Given the description of an element on the screen output the (x, y) to click on. 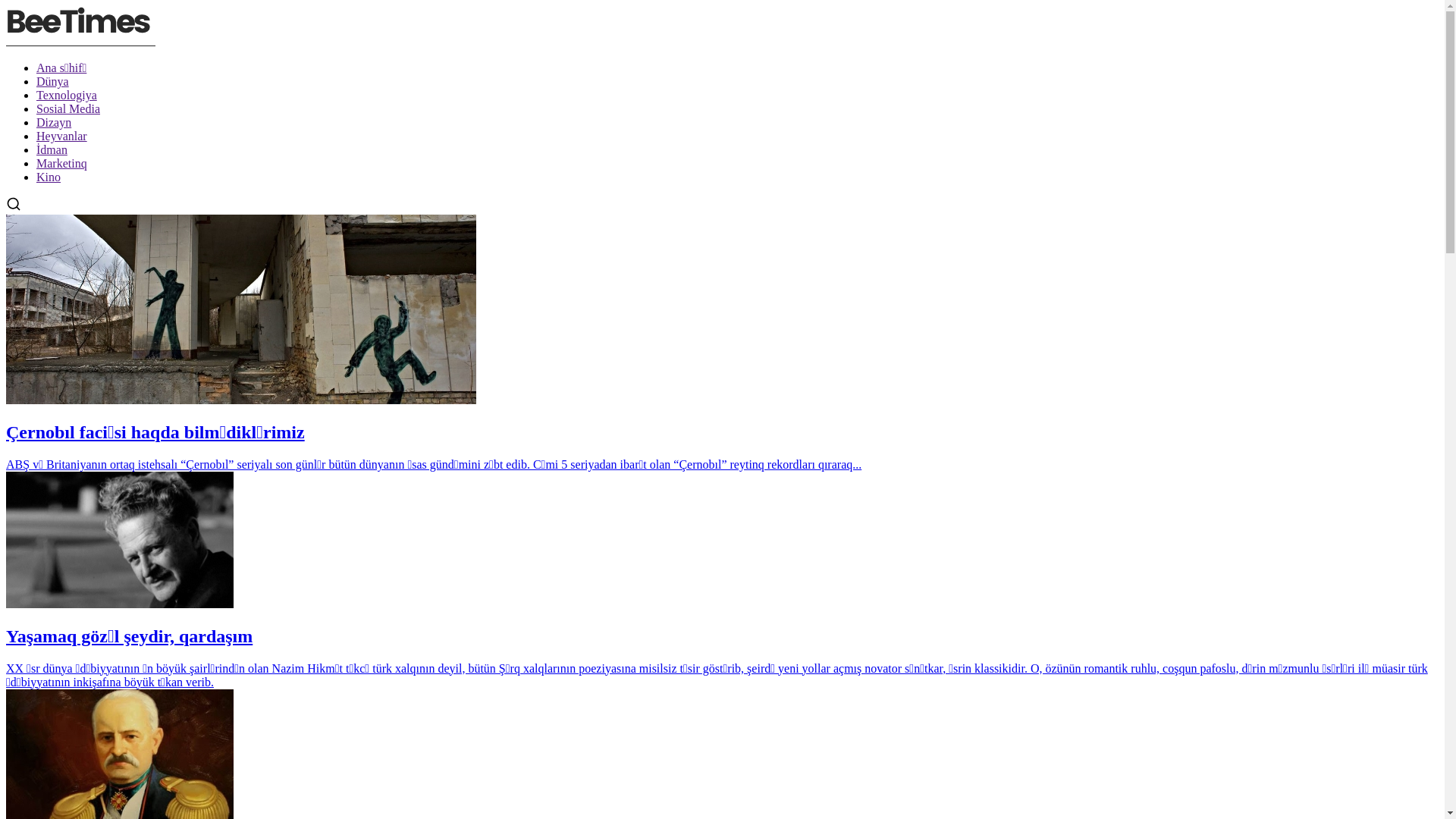
Marketinq Element type: text (61, 162)
Sosial Media Element type: text (68, 108)
Texnologiya Element type: text (66, 94)
Kino Element type: text (48, 176)
Heyvanlar Element type: text (61, 135)
Dizayn Element type: text (53, 122)
